Given the description of an element on the screen output the (x, y) to click on. 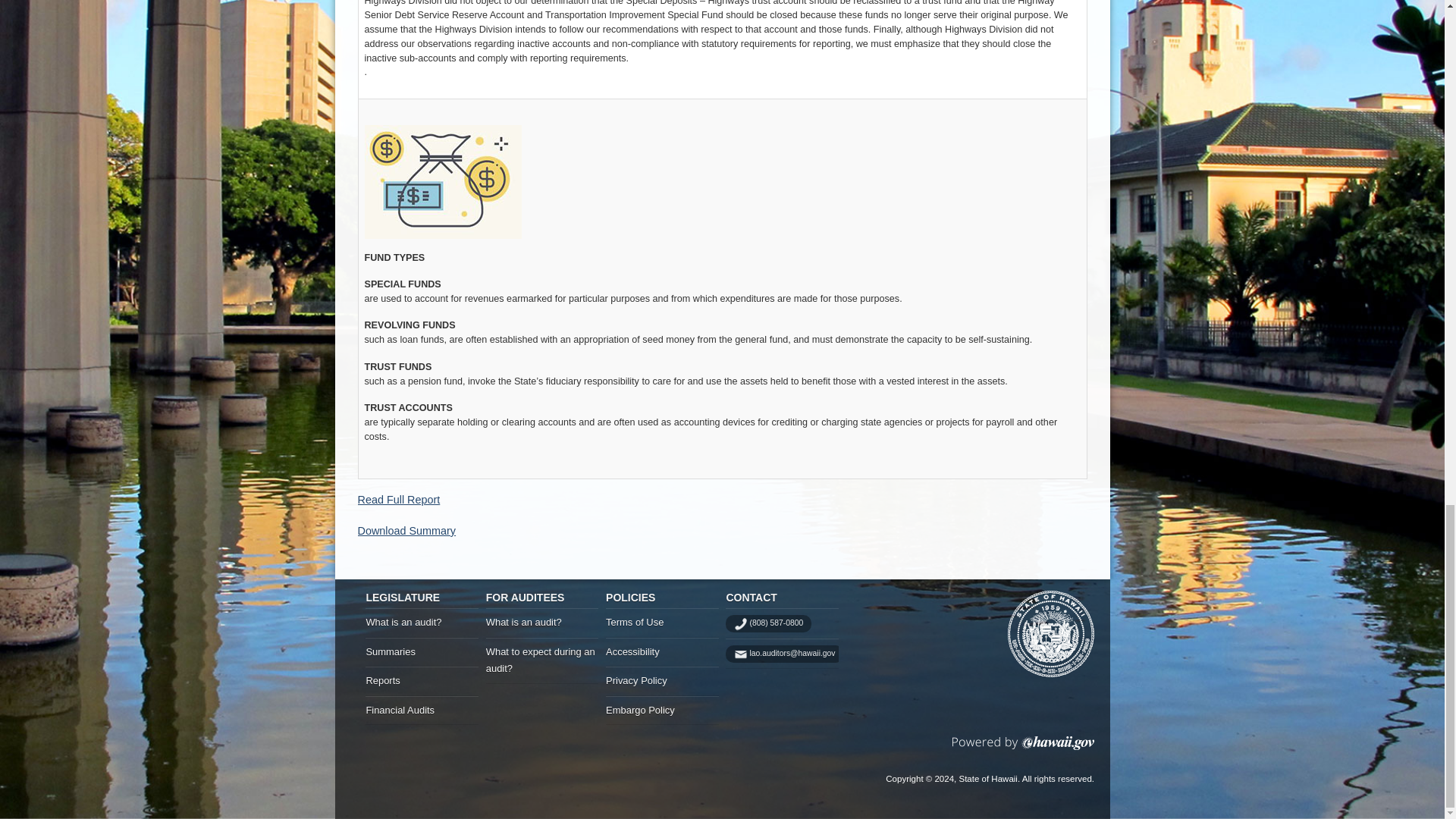
tel (767, 623)
email (784, 653)
